Given the description of an element on the screen output the (x, y) to click on. 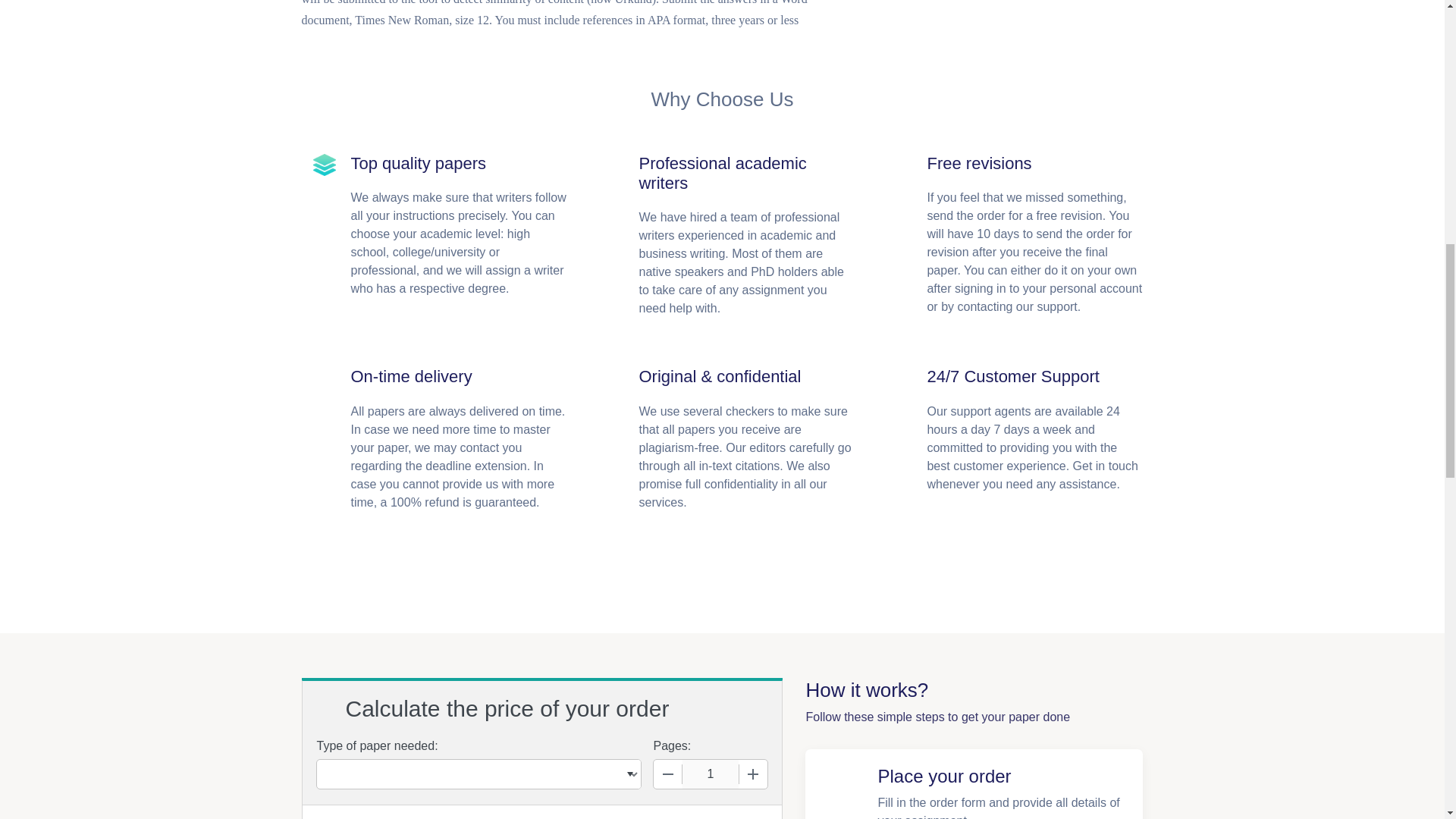
Decrease (667, 774)
1 (710, 774)
